Given the description of an element on the screen output the (x, y) to click on. 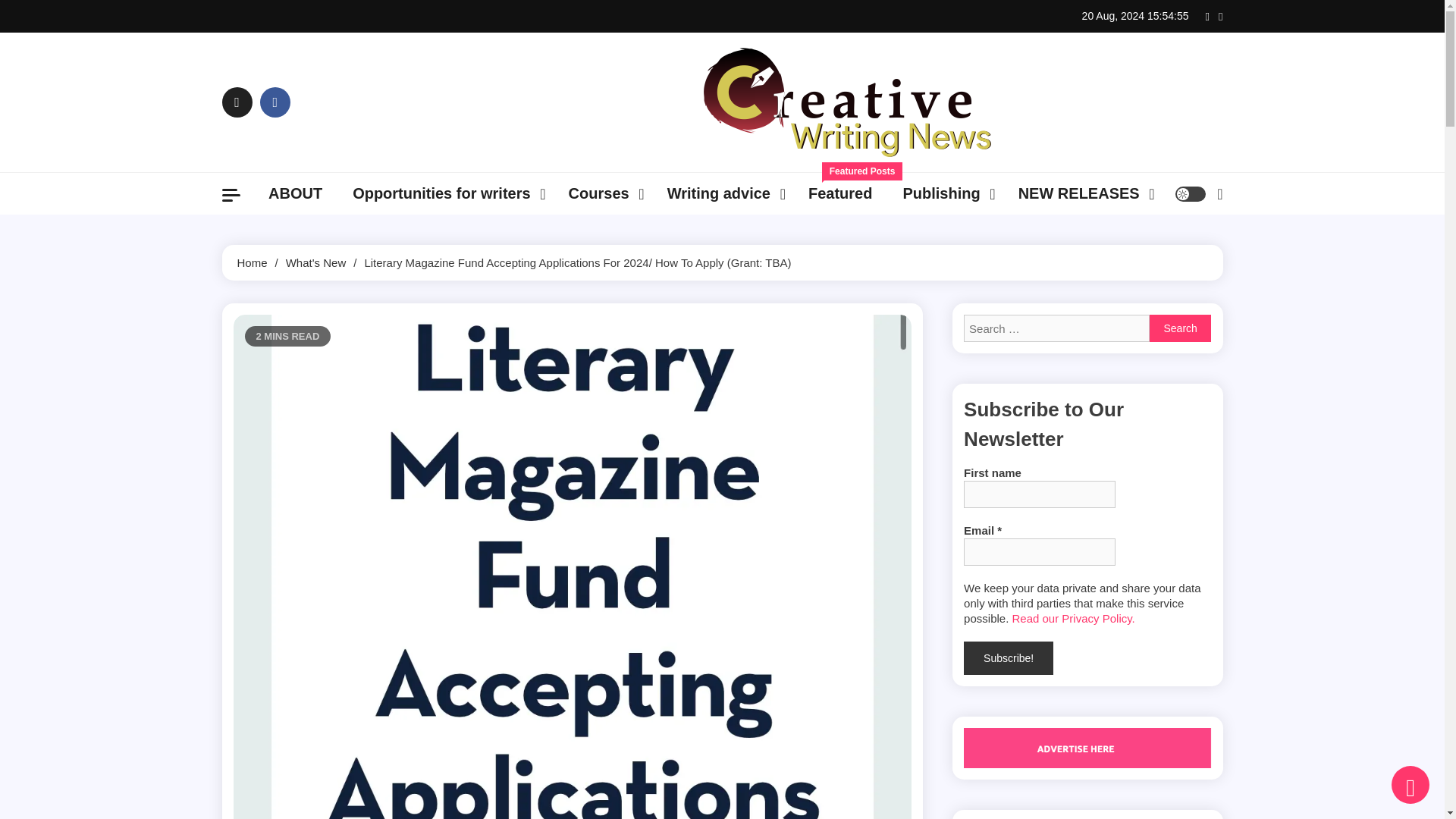
Subscribe! (1007, 657)
Opportunities for writers (445, 193)
Courses (602, 193)
First name (1039, 493)
Search (1180, 328)
Email (1039, 551)
Publishing (944, 193)
ABOUT (295, 193)
Writing advice (839, 193)
